Given the description of an element on the screen output the (x, y) to click on. 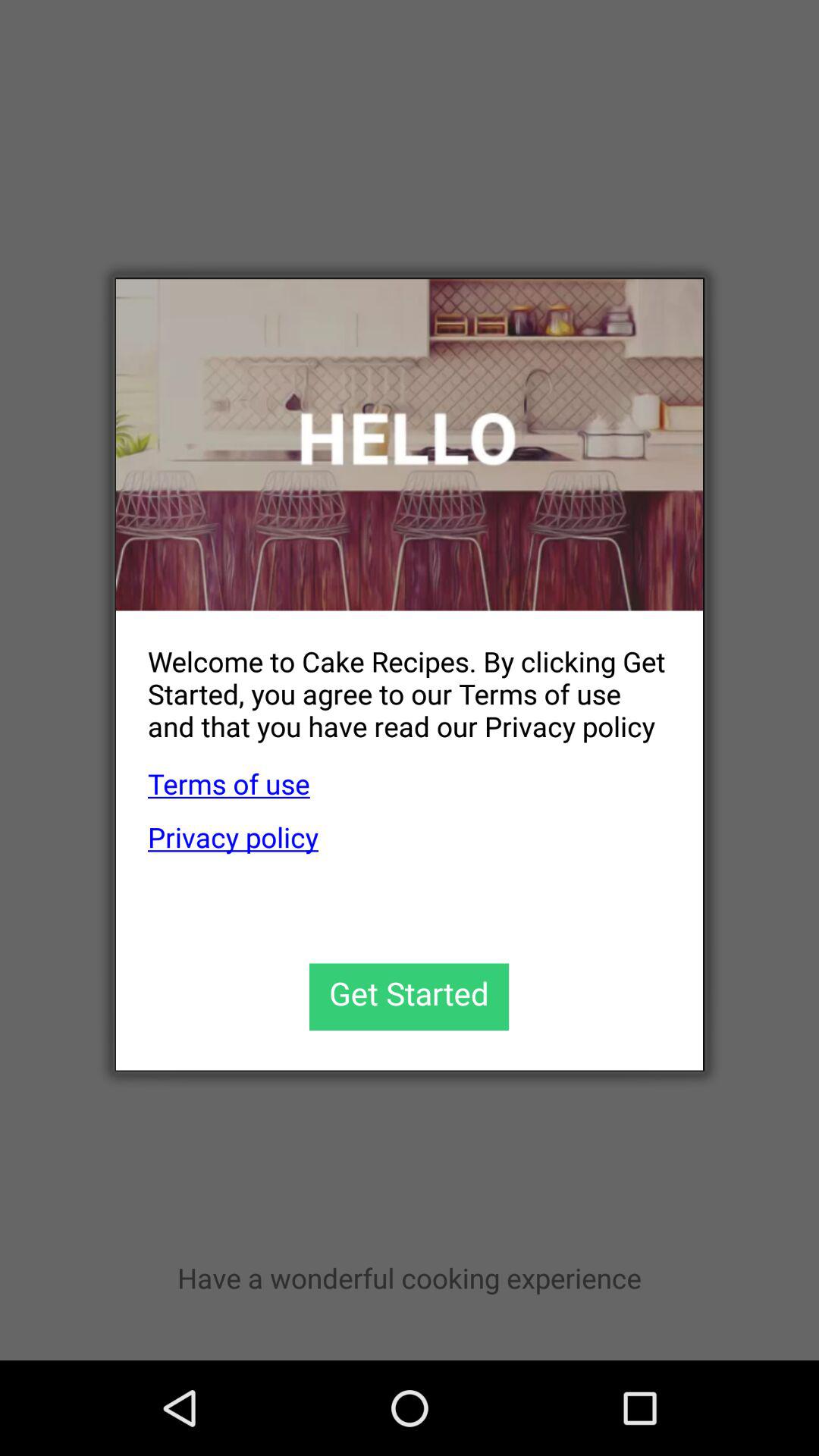
press welcome to cake icon (393, 681)
